Given the description of an element on the screen output the (x, y) to click on. 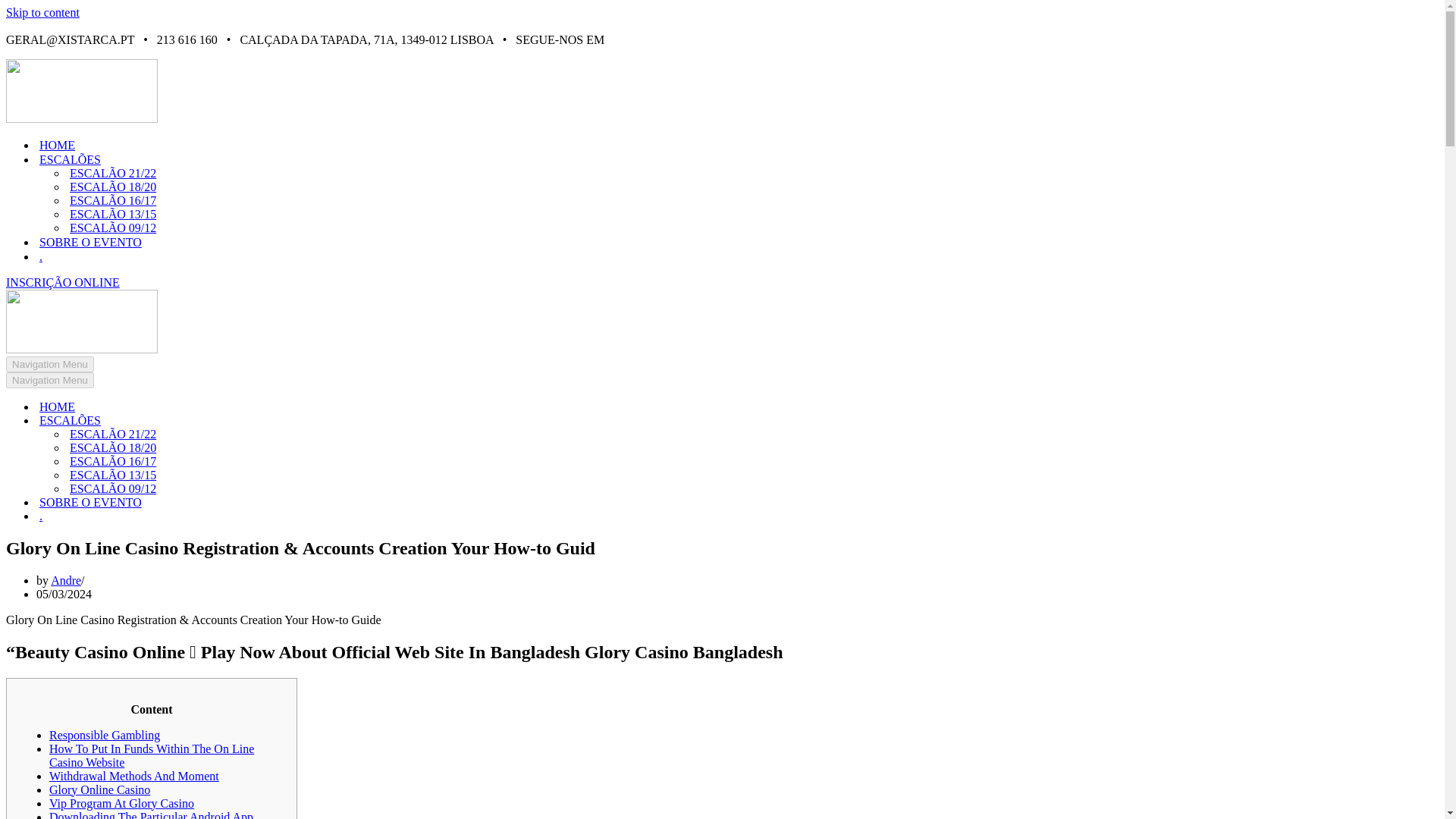
HOME (157, 407)
Withdrawal Methods And Moment (134, 775)
HOME (57, 145)
. (157, 516)
SOBRE O EVENTO (90, 242)
Andre (65, 580)
Vip Program At Glory Casino (121, 802)
Responsible Gambling (104, 735)
Posts by Andre (65, 580)
Downloading The Particular Android App (151, 814)
SOBRE O EVENTO (157, 502)
How To Put In Funds Within The On Line Casino Website (151, 755)
Navigation Menu (49, 364)
Glory Online Casino (99, 789)
Skip to content (42, 11)
